Given the description of an element on the screen output the (x, y) to click on. 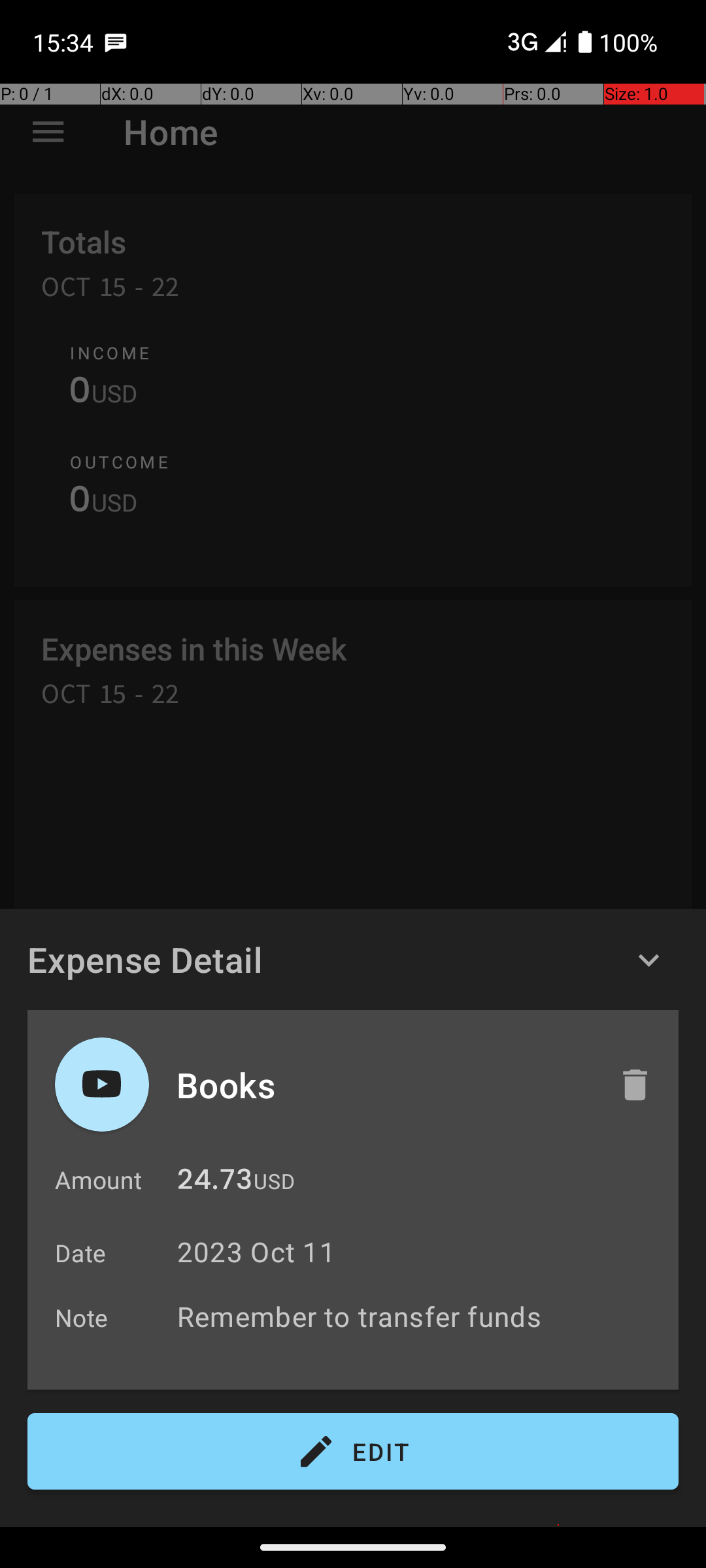
Expense Detail Element type: android.widget.TextView (145, 959)
Books Element type: android.widget.TextView (383, 1084)
Amount Element type: android.widget.TextView (97, 1179)
24.73 Element type: android.widget.TextView (214, 1182)
Date Element type: android.widget.TextView (80, 1252)
2023 Oct 11 Element type: android.widget.TextView (256, 1251)
Note Element type: android.widget.TextView (81, 1317)
Remember to transfer funds Element type: android.widget.TextView (420, 1315)
EDIT Element type: android.widget.Button (352, 1451)
SMS Messenger notification: Matteo Ibrahim Element type: android.widget.ImageView (115, 41)
